Given the description of an element on the screen output the (x, y) to click on. 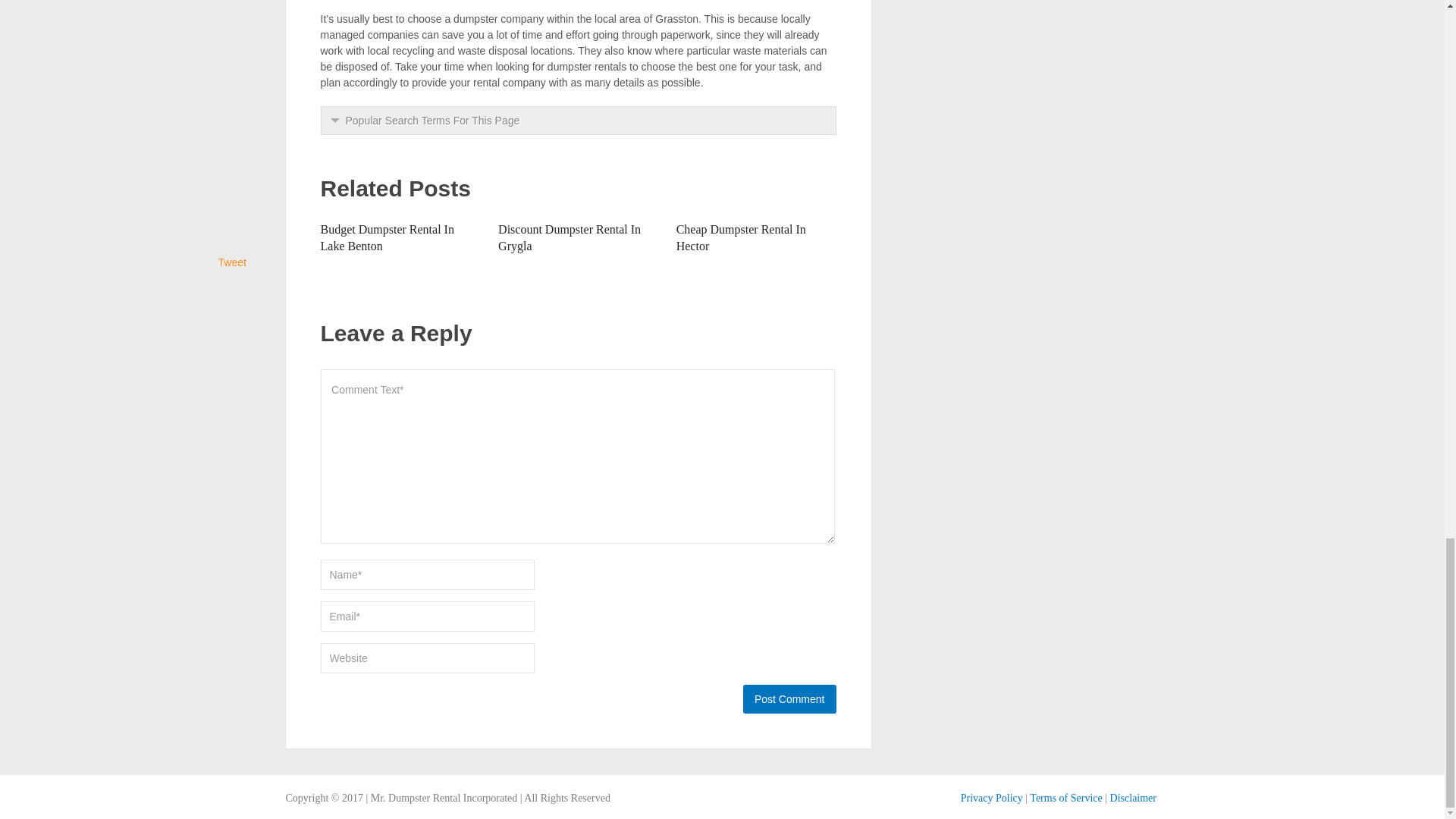
Cheap Dumpster Rental In Hector (741, 237)
Post Comment (788, 698)
Budget Dumpster Rental In Lake Benton (386, 237)
Discount Dumpster Rental In Grygla (568, 237)
Disclaimer (1132, 797)
Cheap Dumpster Rental In Hector (741, 237)
Terms of Service (1065, 797)
Budget Dumpster Rental In Lake Benton (386, 237)
Post Comment (788, 698)
Privacy Policy (991, 797)
